Given the description of an element on the screen output the (x, y) to click on. 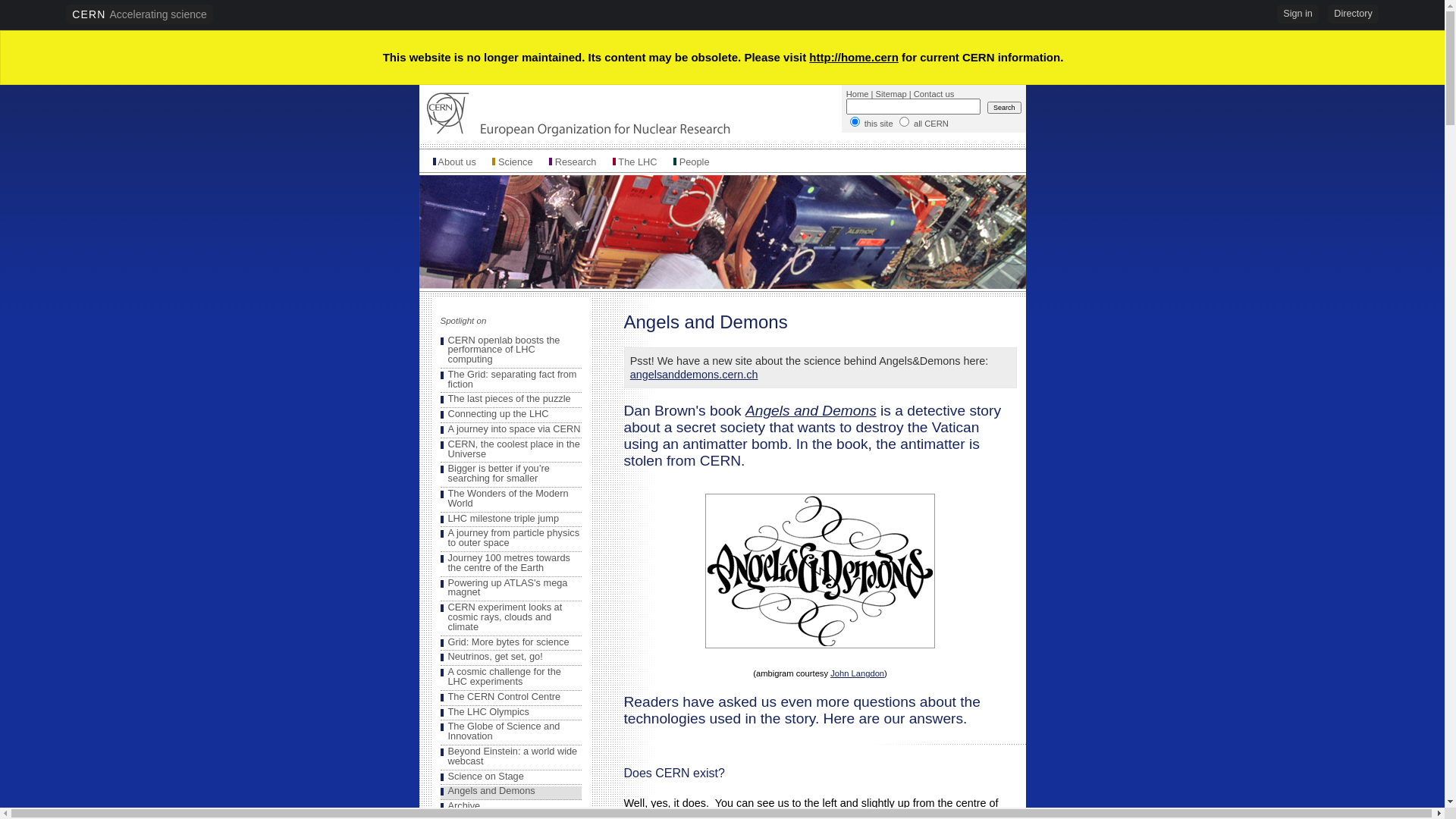
People Element type: text (694, 161)
Beyond Einstein: a world wide webcast Element type: text (512, 755)
At work on the Antiproton Decelerator Element type: hover (721, 231)
The Globe of Science and Innovation Element type: text (503, 730)
John Langdon Element type: text (857, 672)
Search Element type: text (1004, 107)
Sitemap Element type: text (890, 93)
The LHC Element type: text (637, 161)
A cosmic challenge for the LHC experiments Element type: text (503, 676)
Grid: More bytes for science Element type: text (507, 641)
The Wonders of the Modern World Element type: text (507, 497)
Angels and Demons ambigram Element type: hover (820, 570)
CERN, the coolest place in the Universe Element type: text (513, 448)
Archive Element type: text (463, 805)
Spotlight on Element type: text (462, 320)
CERN Accelerating science Element type: text (139, 14)
Connecting up the LHC Element type: text (497, 413)
Science Element type: text (515, 161)
CERN experiment looks at cosmic rays, clouds and climate Element type: text (504, 616)
A journey from particle physics to outer space Element type: text (513, 537)
Directory Element type: text (1352, 13)
Research Element type: text (575, 161)
The LHC Olympics Element type: text (487, 711)
The Grid: separating fact from fiction Element type: text (511, 378)
The CERN Control Centre Element type: text (503, 696)
Angels and Demons Element type: text (490, 790)
About us Element type: text (456, 161)
Science on Stage Element type: text (485, 775)
Sign in Element type: text (1297, 13)
Journey 100 metres towards the centre of the Earth Element type: text (508, 562)
http://home.cern Element type: text (853, 56)
Contact us Element type: text (933, 93)
Angels and Demons Element type: text (810, 410)
LHC milestone triple jump Element type: text (502, 518)
angelsanddemons.cern.ch Element type: text (694, 374)
The last pieces of the puzzle Element type: text (508, 398)
Home Element type: text (857, 93)
A journey into space via CERN Element type: text (513, 428)
Neutrinos, get set, go! Element type: text (494, 656)
CERN openlab boosts the performance of LHC computing Element type: text (503, 348)
Powering up ATLAS's mega magnet Element type: text (507, 587)
